Given the description of an element on the screen output the (x, y) to click on. 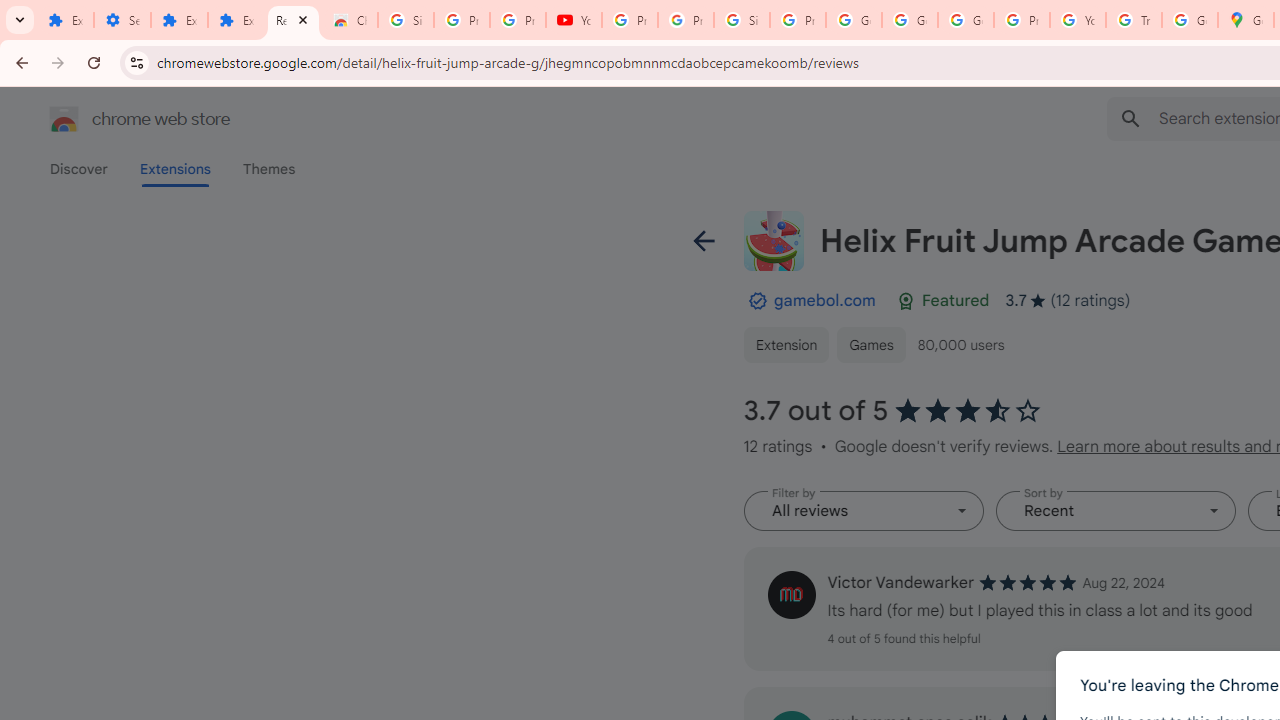
YouTube (1077, 20)
Sign in - Google Accounts (742, 20)
